Given the description of an element on the screen output the (x, y) to click on. 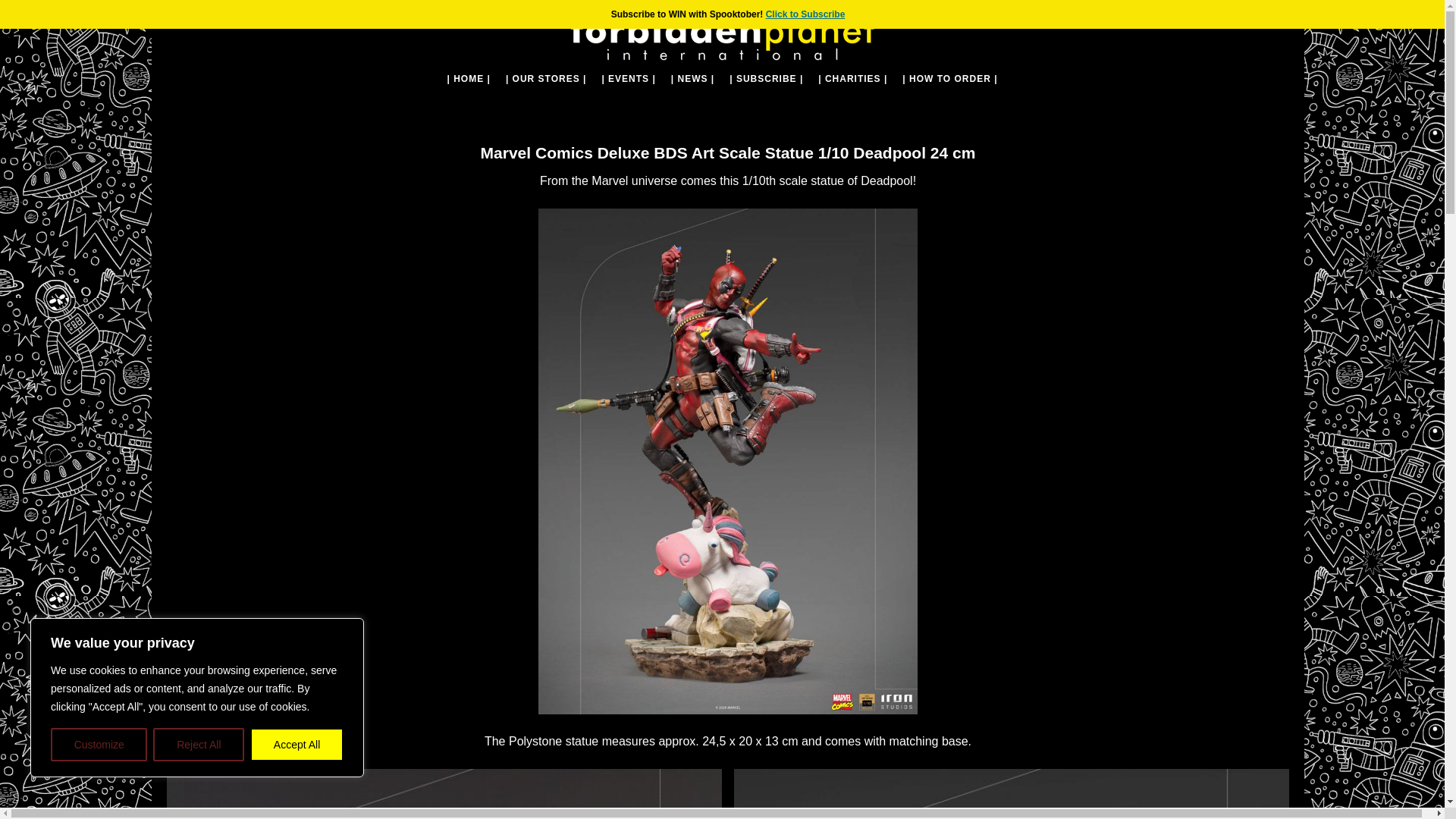
Customize (98, 744)
Accept All (296, 744)
Reject All (198, 744)
Click to Subscribe (805, 14)
